Given the description of an element on the screen output the (x, y) to click on. 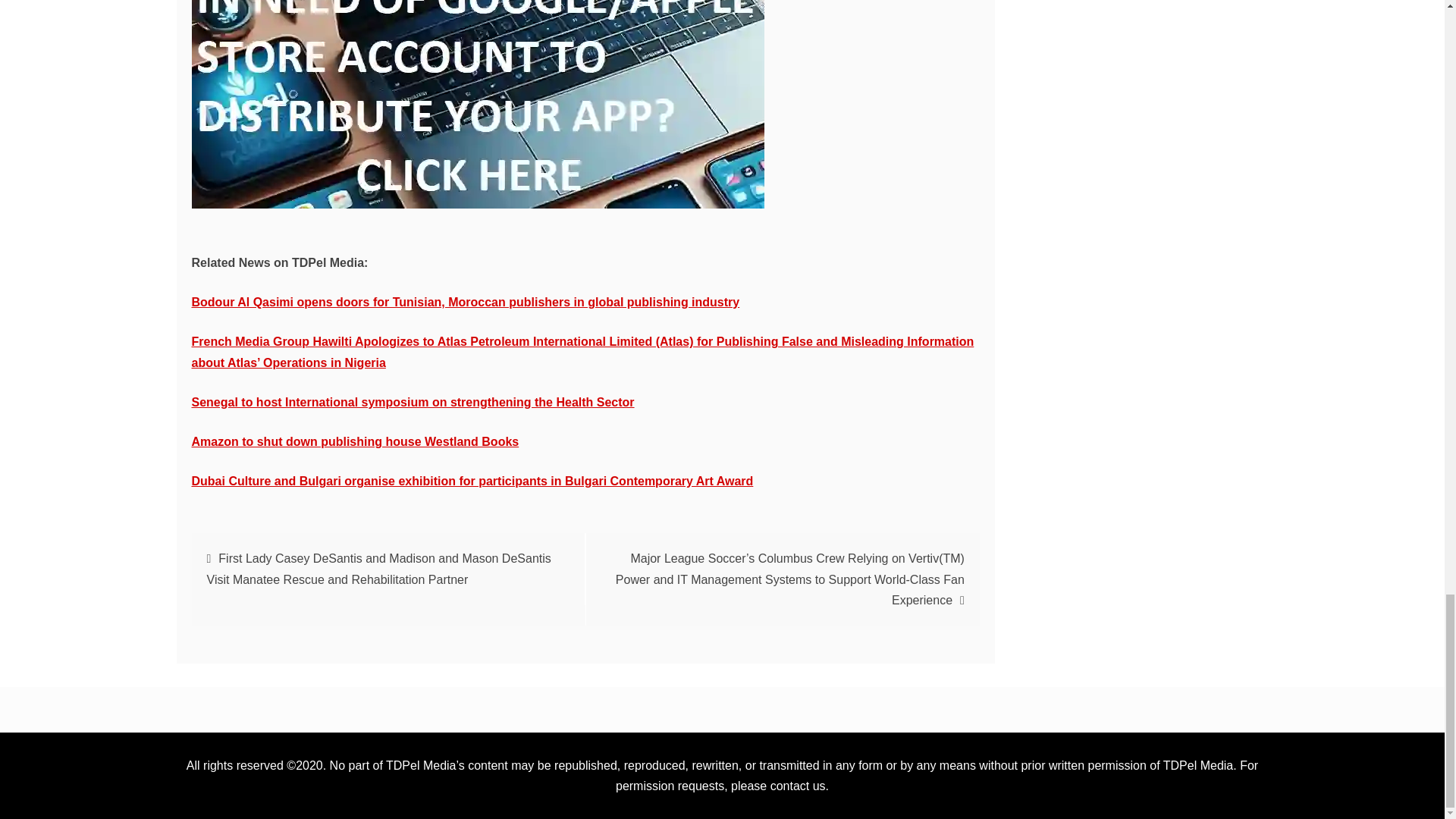
Amazon to shut down publishing house Westland Books (354, 440)
